Given the description of an element on the screen output the (x, y) to click on. 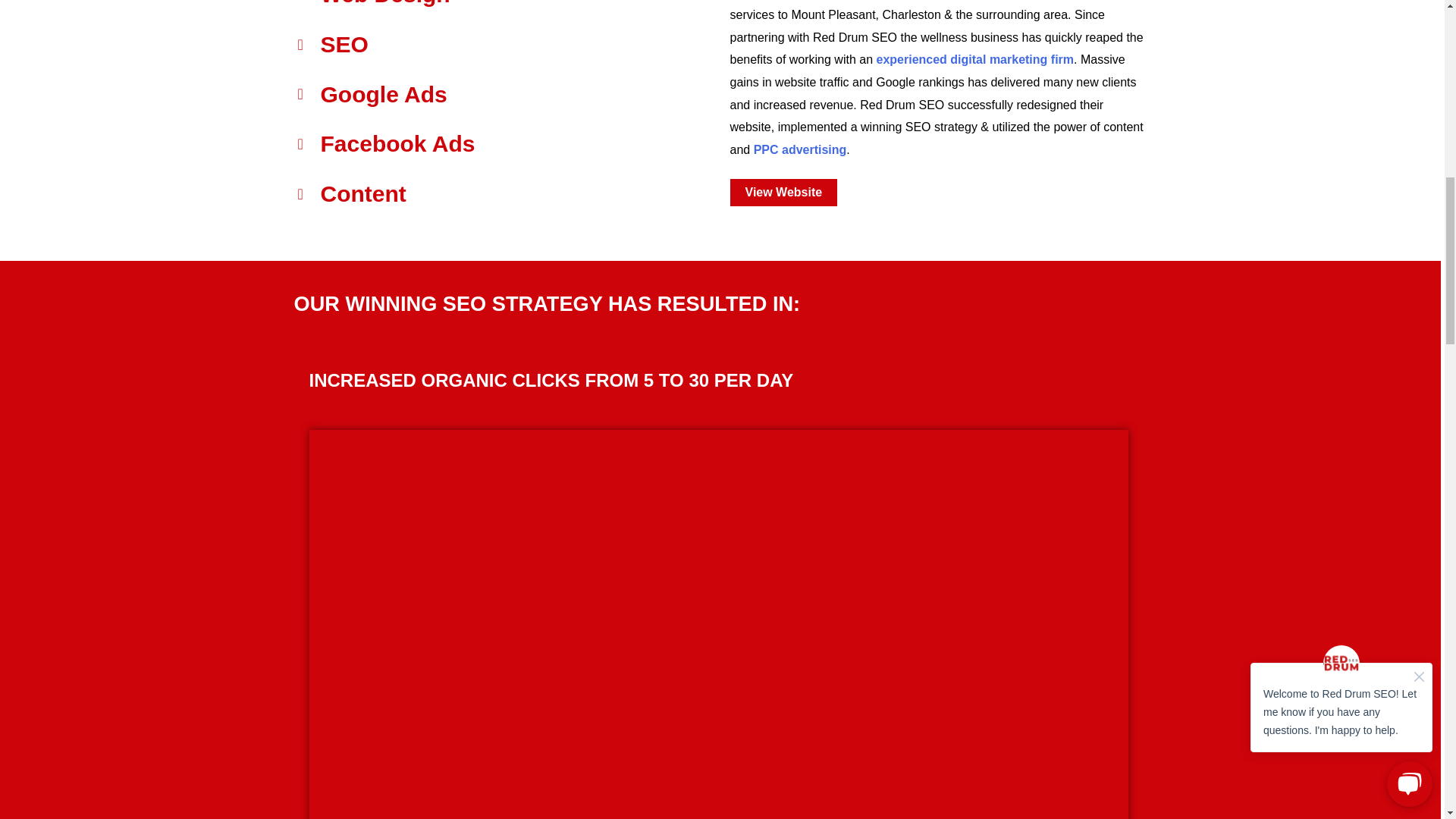
SEO (505, 44)
Google Ads (505, 94)
Facebook Ads (505, 143)
Web Design (505, 7)
